Given the description of an element on the screen output the (x, y) to click on. 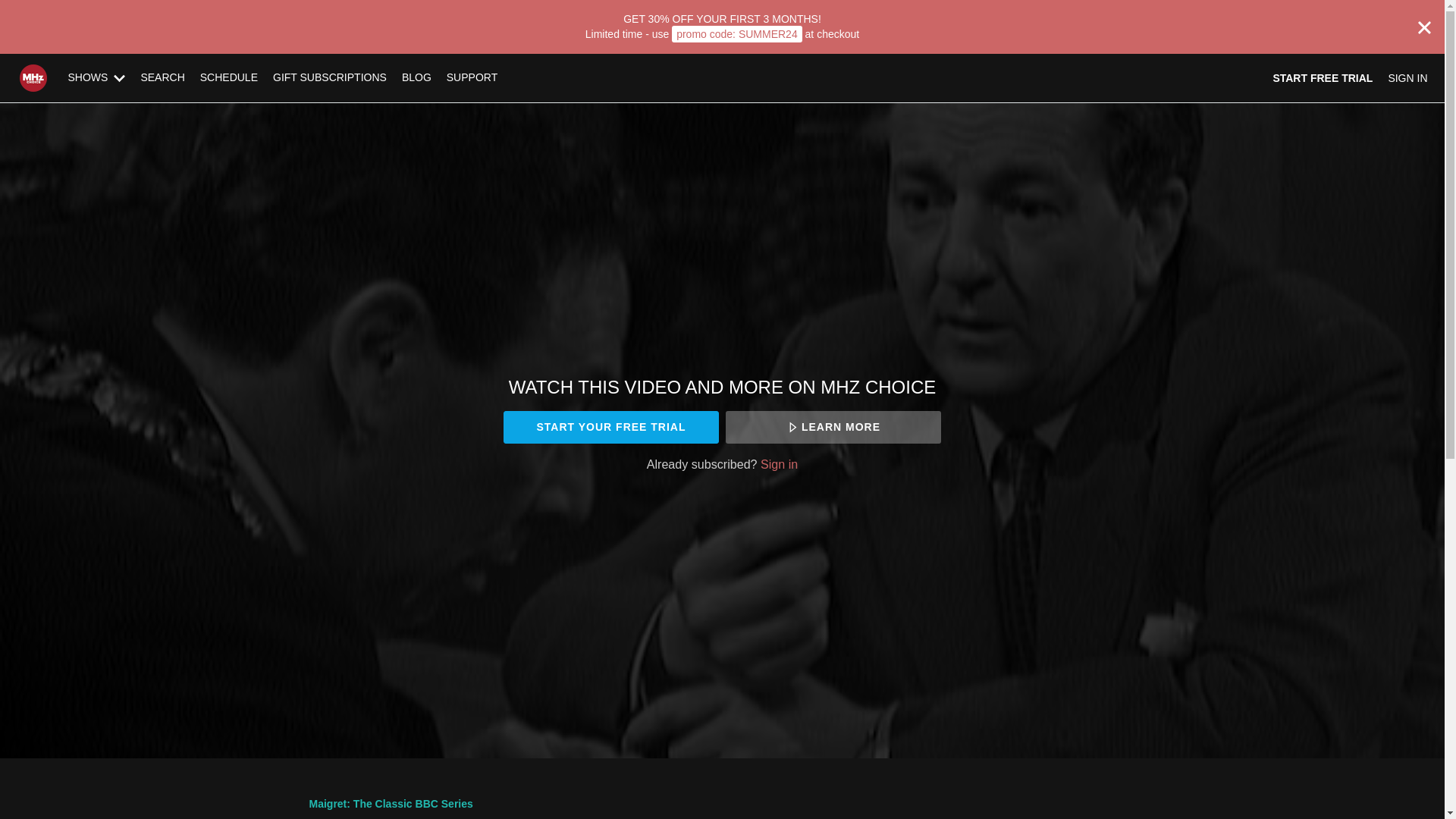
GIFT SUBSCRIPTIONS (329, 77)
START YOUR FREE TRIAL (610, 427)
SHOWS (97, 77)
SIGN IN (1406, 78)
LEARN MORE (832, 427)
START FREE TRIAL (1322, 78)
SUPPORT (472, 77)
Maigret: The Classic BBC Series (390, 803)
BLOG (416, 77)
SCHEDULE (228, 77)
Skip to main content (48, 7)
Sign in (778, 463)
SEARCH (162, 77)
